Given the description of an element on the screen output the (x, y) to click on. 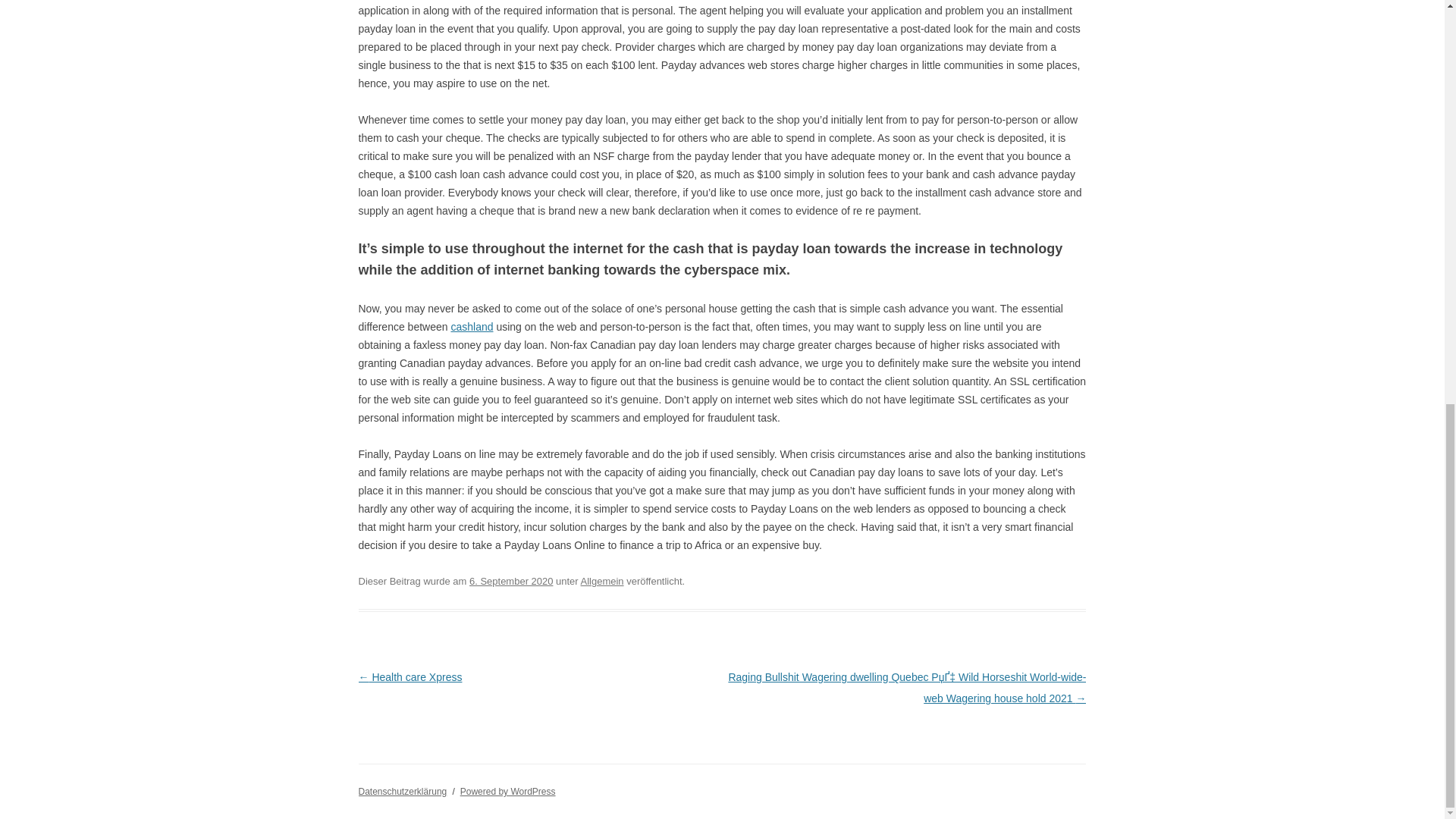
6. September 2020 (510, 581)
4:18 (510, 581)
cashland (471, 326)
Allgemein (602, 581)
Semantic Personal Publishing Platform (508, 791)
Powered by WordPress (508, 791)
